Given the description of an element on the screen output the (x, y) to click on. 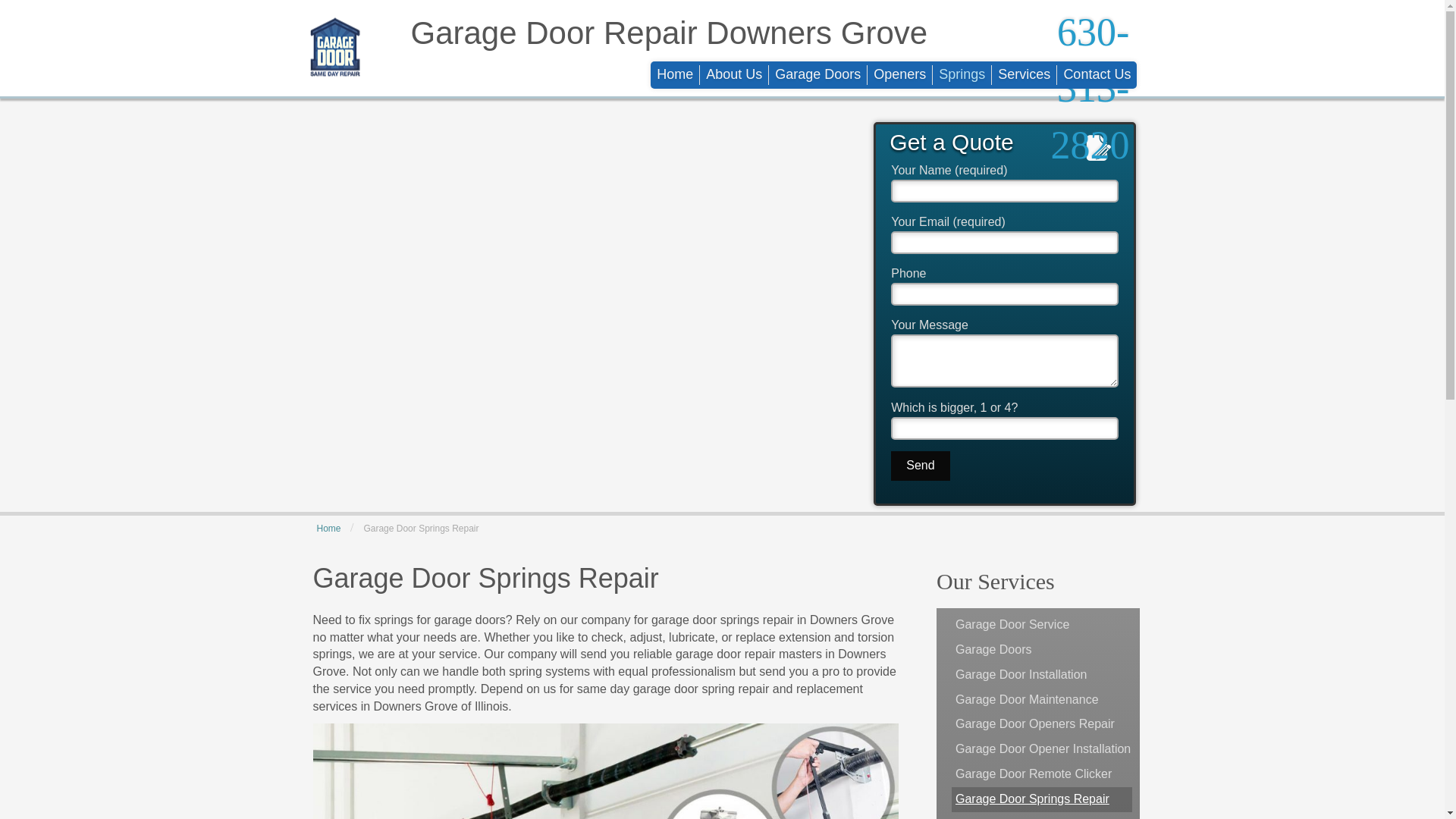
Home (675, 75)
Garage Doors (817, 75)
About Us (734, 75)
Springs (962, 75)
Services (1024, 75)
Send (920, 465)
Openers (900, 75)
